Given the description of an element on the screen output the (x, y) to click on. 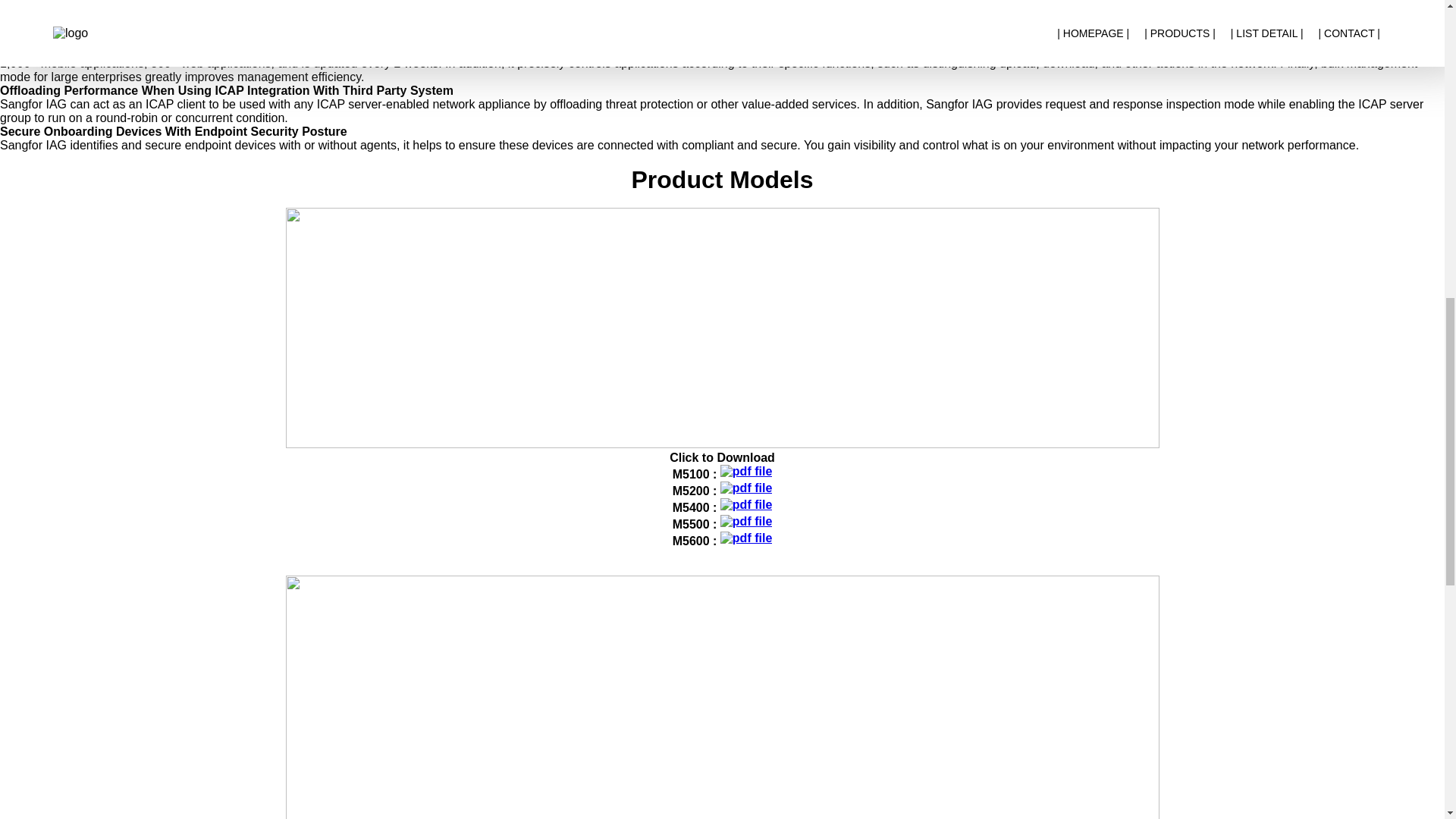
pdf file (745, 471)
pdf file (745, 504)
pdf file (745, 521)
pdf file (745, 538)
pdf file (745, 488)
